Given the description of an element on the screen output the (x, y) to click on. 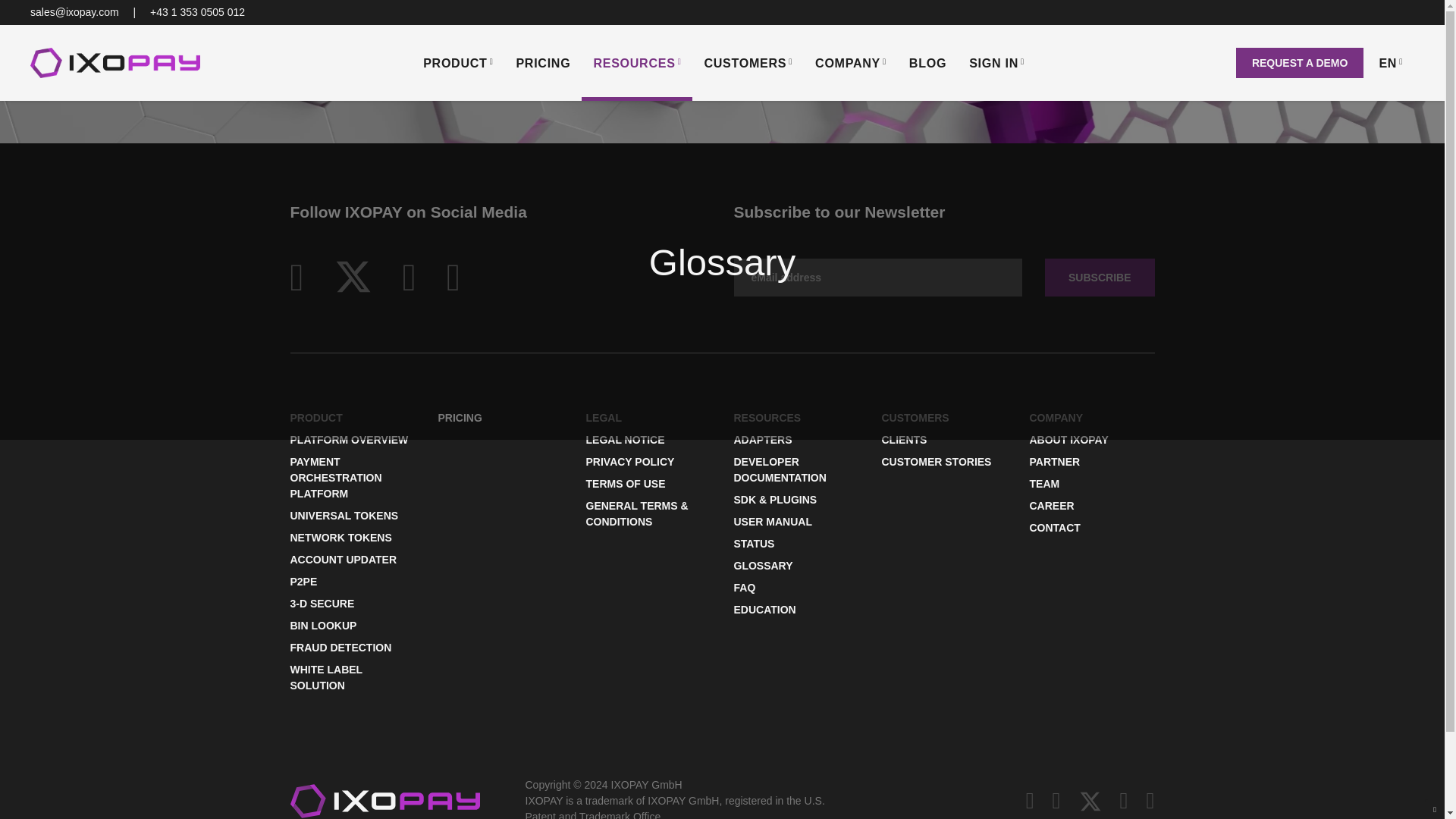
RESOURCES (636, 62)
X (1090, 799)
CUSTOMERS (748, 62)
PRICING (541, 62)
COMPANY (850, 62)
SIGN IN (996, 62)
PRODUCT (457, 62)
BLOG (928, 62)
IXOPAY (122, 62)
X (353, 274)
